Given the description of an element on the screen output the (x, y) to click on. 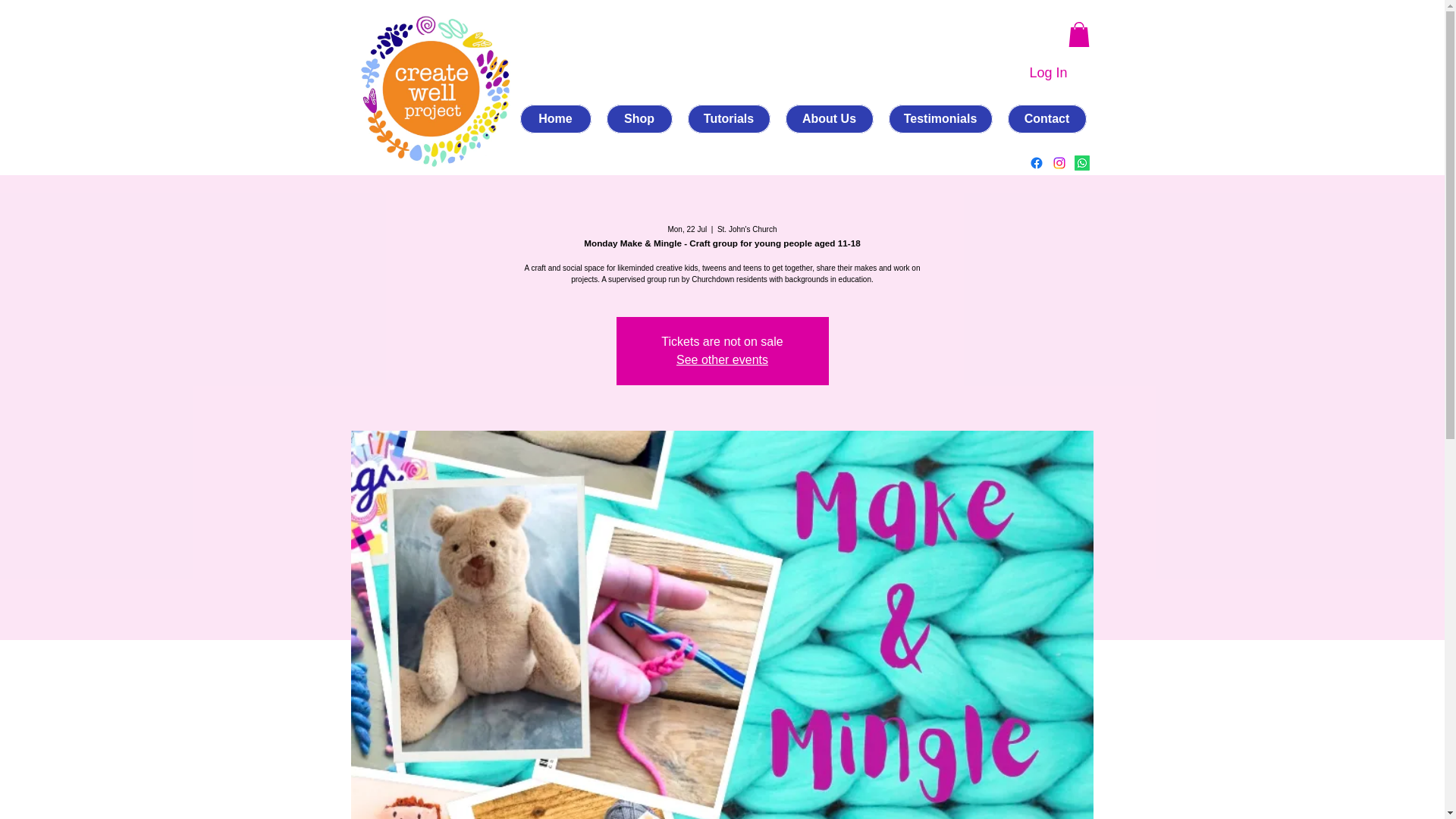
Shop (639, 118)
Home (555, 118)
About Us (829, 118)
Contact (1046, 118)
Tutorials (728, 118)
See other events (722, 359)
Testimonials (940, 118)
Log In (1047, 73)
